Given the description of an element on the screen output the (x, y) to click on. 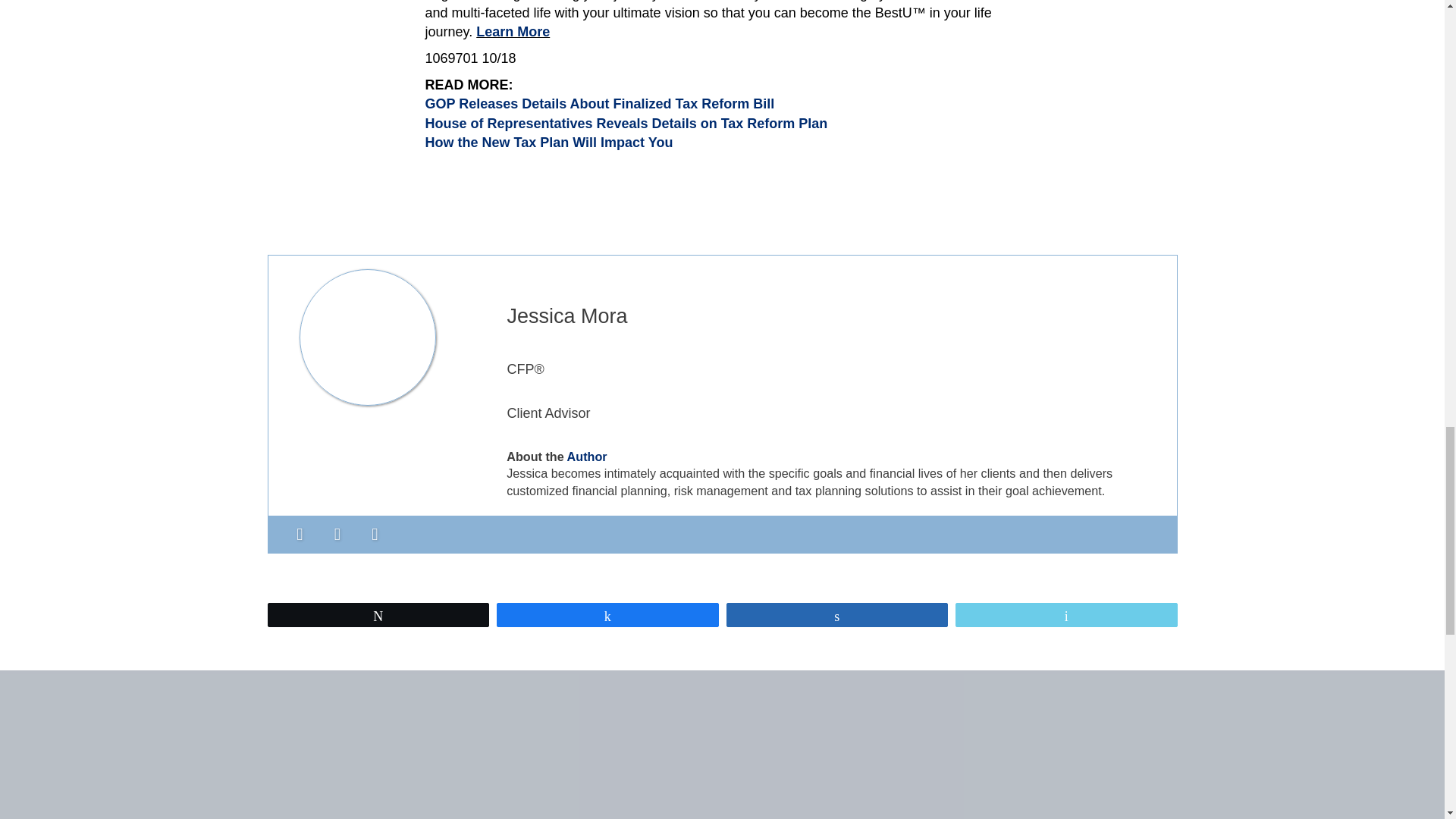
How the New Tax Plan Will Impact You (548, 142)
Author (587, 456)
House of Representatives Reveals Details on Tax Reform Plan (626, 123)
Learn More (513, 31)
Jessica Mora (566, 315)
GOP Releases Details About Finalized Tax Reform Bill (599, 103)
